Given the description of an element on the screen output the (x, y) to click on. 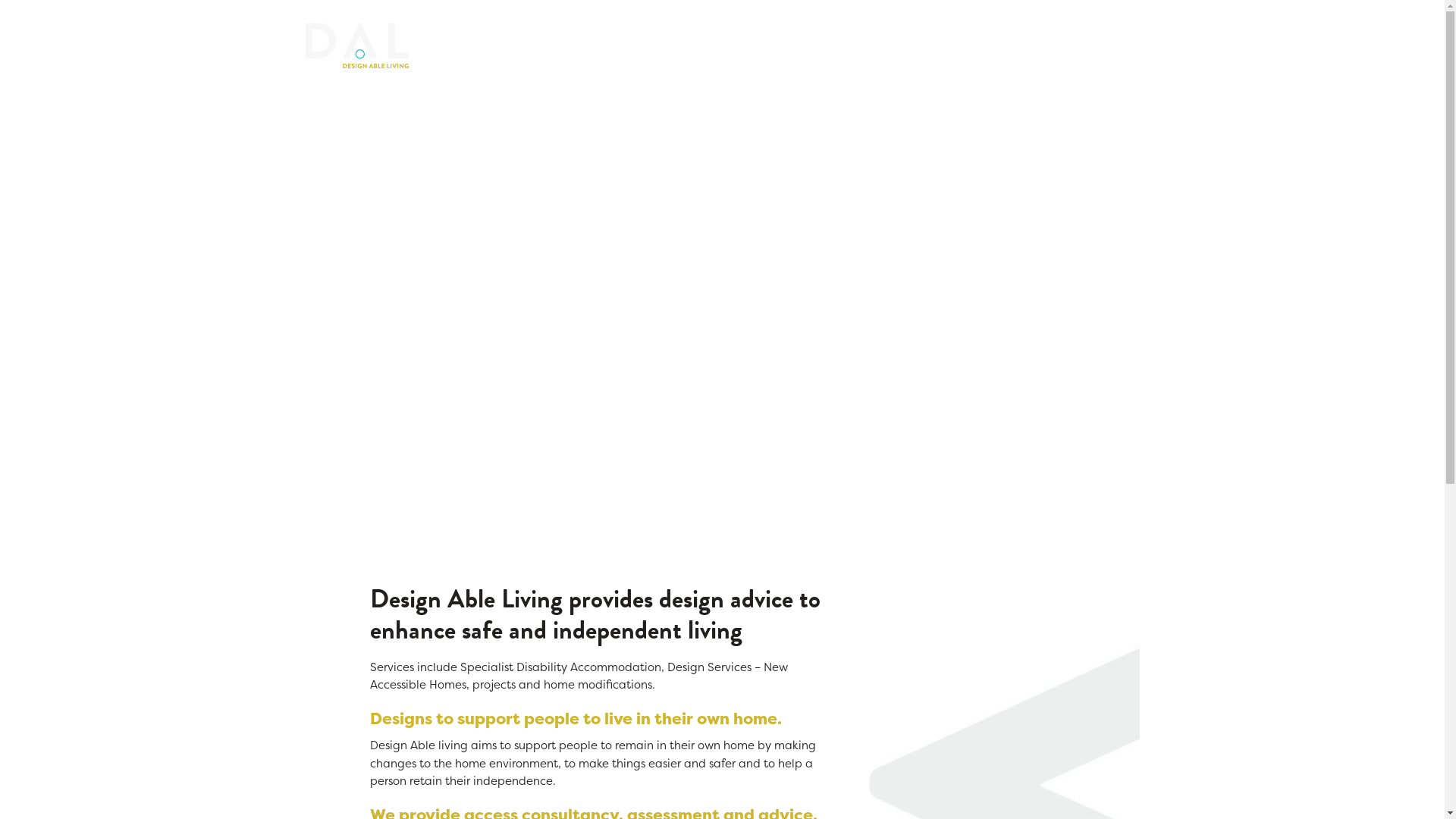
ABOUT US Element type: text (959, 46)
HOME Element type: text (887, 46)
CONTACT Element type: text (1115, 46)
Melbourne | Barwon Heads | Geelong Element type: hover (355, 45)
SERVICES Element type: text (1037, 46)
